Given the description of an element on the screen output the (x, y) to click on. 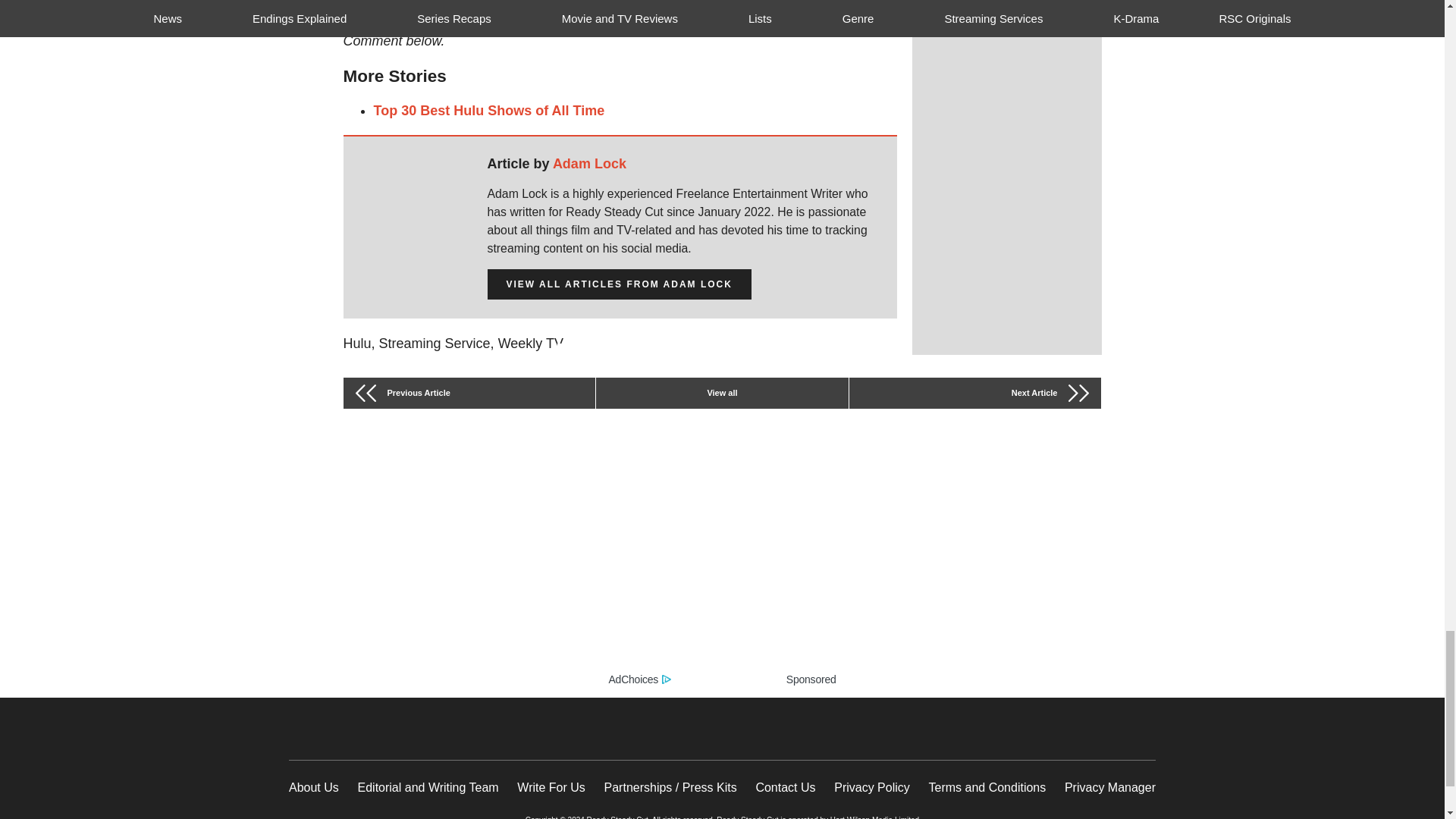
ad content (721, 564)
